Given the description of an element on the screen output the (x, y) to click on. 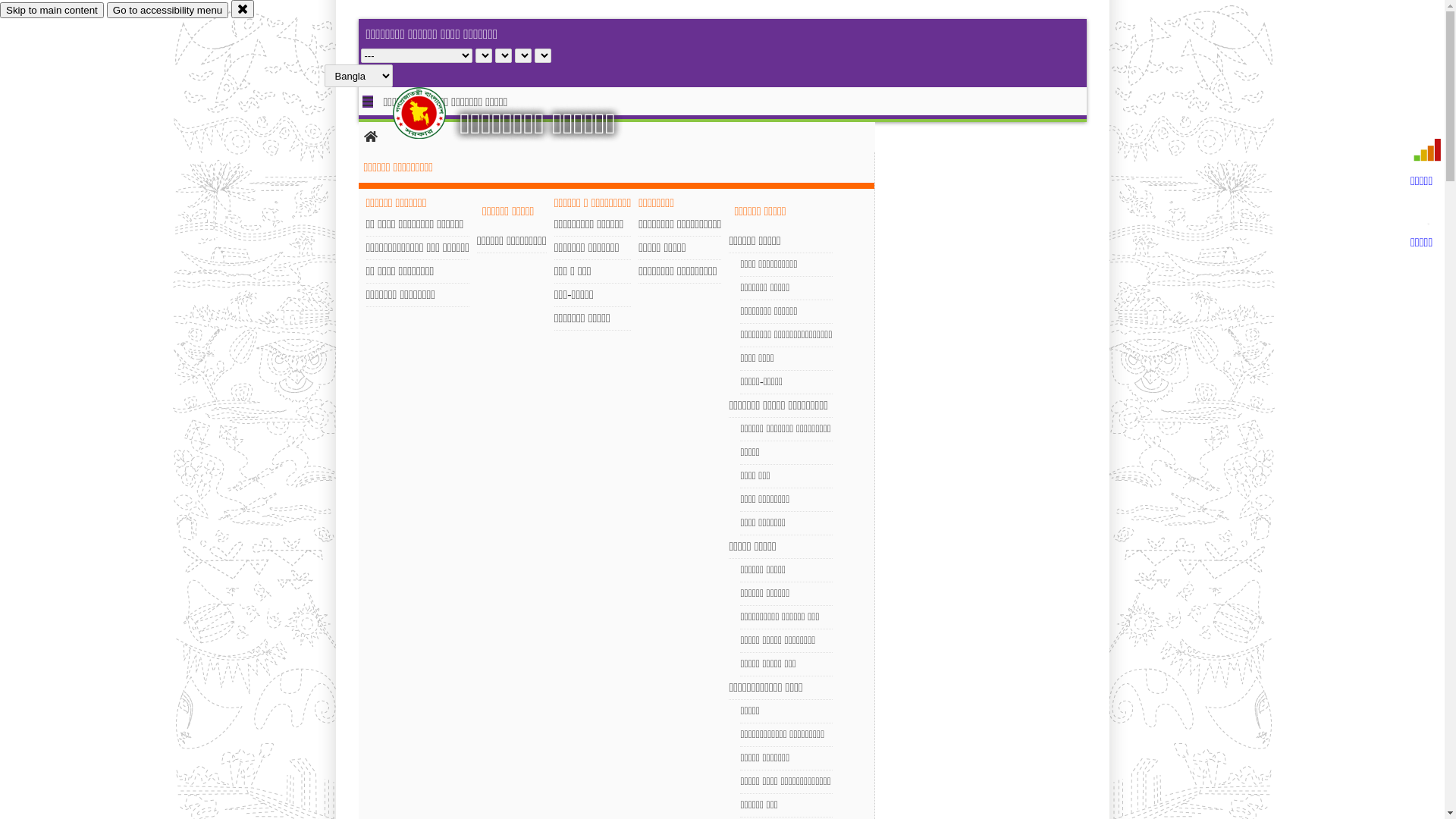
close Element type: hover (242, 9)

                
             Element type: hover (431, 112)
Skip to main content Element type: text (51, 10)
Go to accessibility menu Element type: text (167, 10)
